Given the description of an element on the screen output the (x, y) to click on. 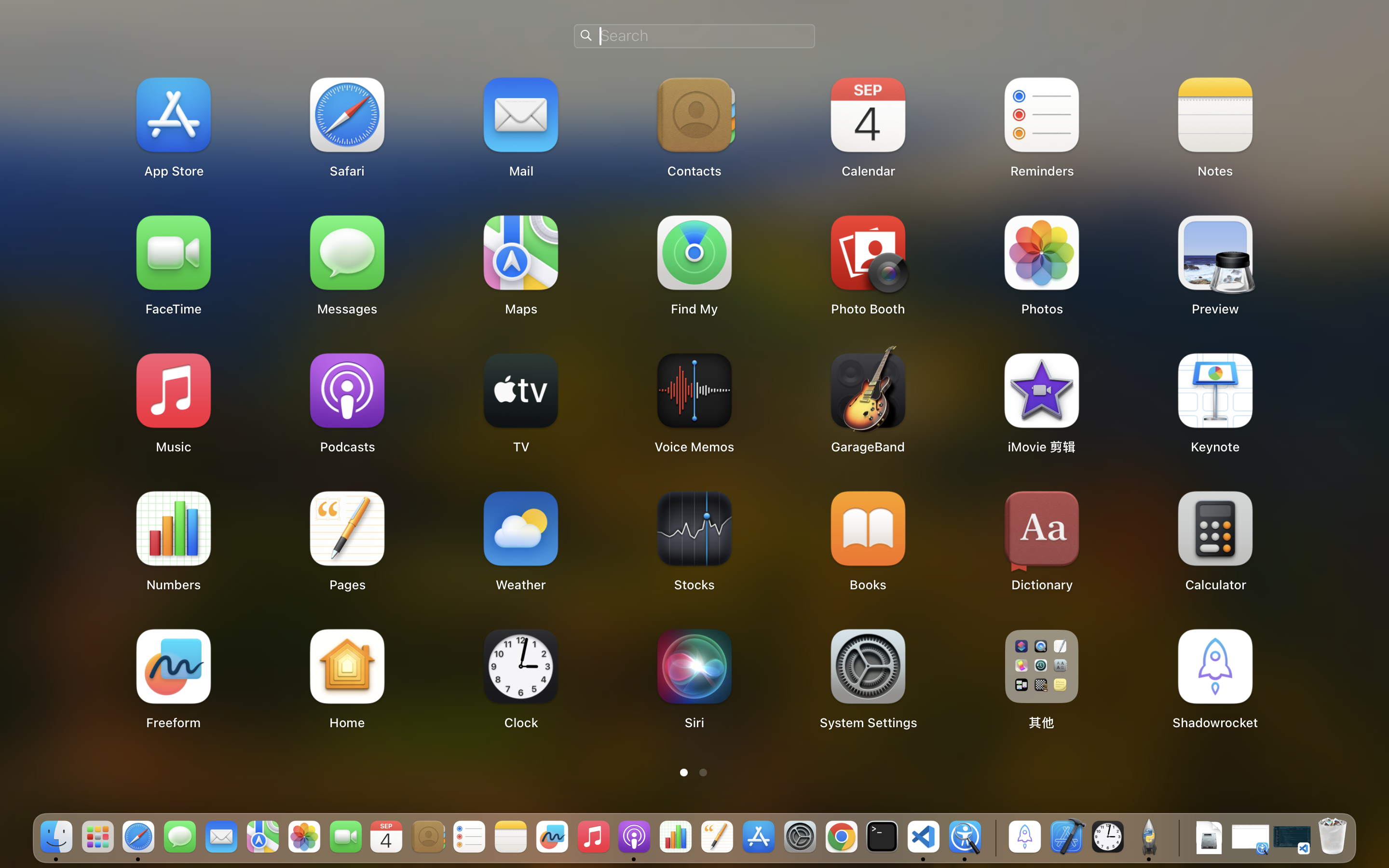
0 Element type: AXRadioGroup (694, 771)
0.4285714328289032 Element type: AXDockItem (993, 837)
